Given the description of an element on the screen output the (x, y) to click on. 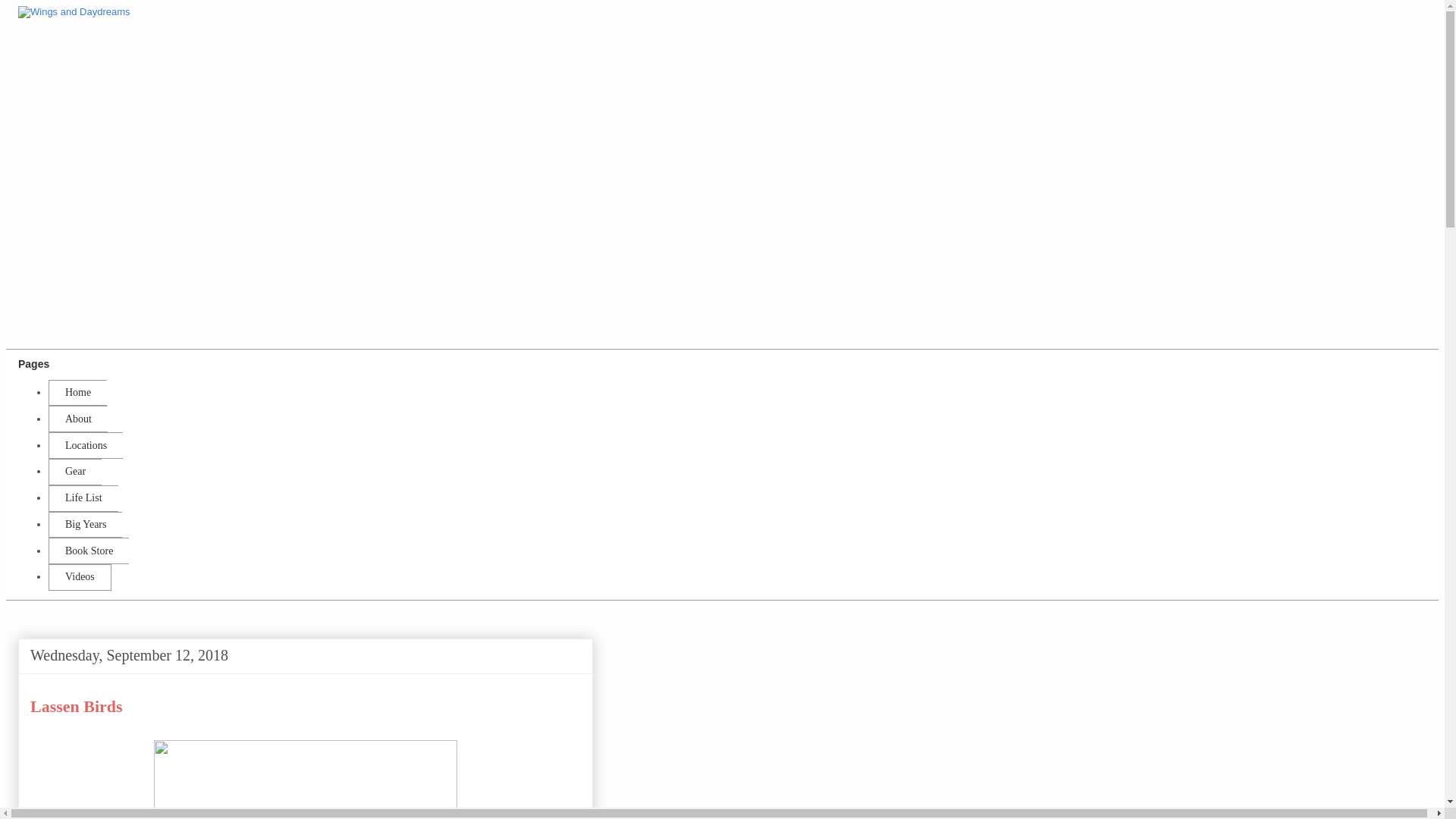
Life List (82, 498)
About (77, 418)
Home (77, 393)
Videos (80, 577)
Gear (74, 471)
Book Store (88, 550)
Locations (85, 445)
Big Years (85, 524)
